Given the description of an element on the screen output the (x, y) to click on. 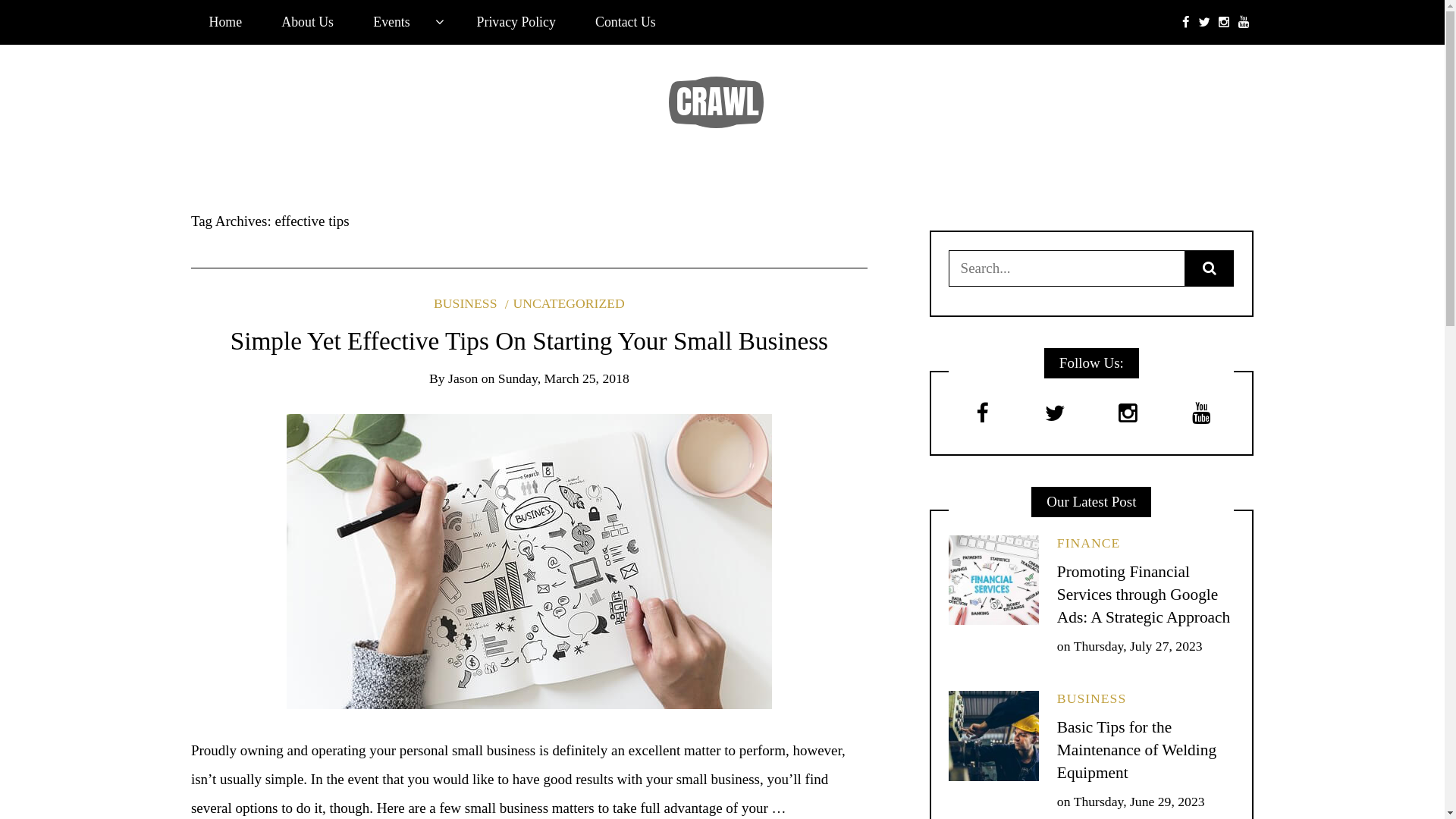
UNCATEGORIZED Element type: text (564, 302)
Jason Element type: text (462, 377)
BUSINESS Element type: text (464, 302)
Contact Us Element type: text (625, 22)
Sunday, March 25, 2018 Element type: text (563, 377)
Thursday, June 29, 2023 Element type: text (1138, 801)
Simple Yet Effective Tips On Starting Your Small Business Element type: text (529, 340)
Privacy Policy Element type: text (516, 22)
BUSINESS Element type: text (1091, 698)
Basic Tips for the Maintenance of Welding Equipment Element type: text (1136, 749)
Search Element type: text (42, 20)
About Us Element type: text (307, 22)
Events Element type: text (405, 22)
Home Element type: text (225, 22)
FINANCE Element type: text (1088, 542)
Thursday, July 27, 2023 Element type: text (1137, 645)
